Given the description of an element on the screen output the (x, y) to click on. 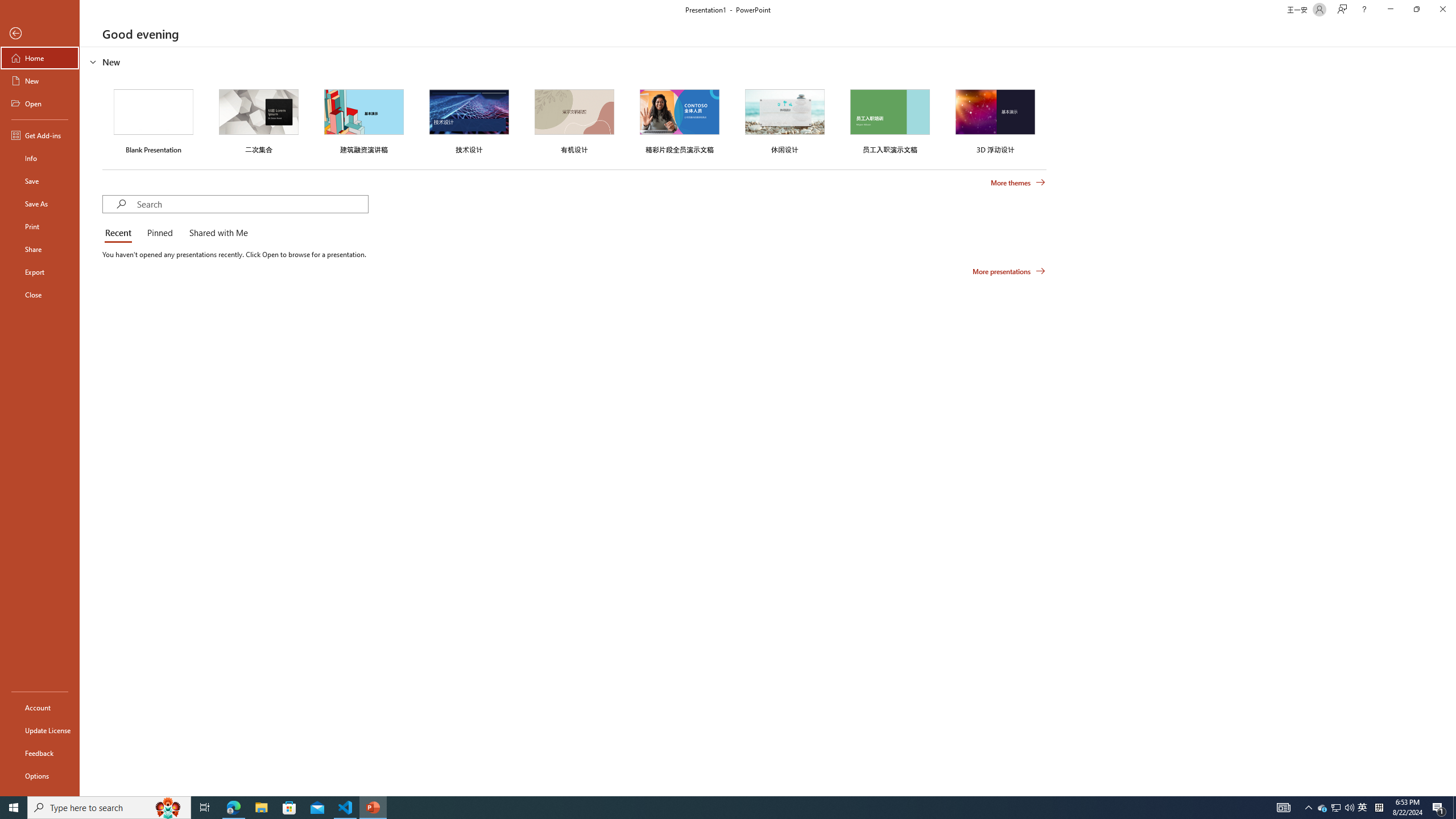
Class: NetUIScrollBar (1450, 421)
Back (40, 33)
New (40, 80)
Hide or show region (92, 61)
Update License (40, 730)
Info (40, 157)
